Given the description of an element on the screen output the (x, y) to click on. 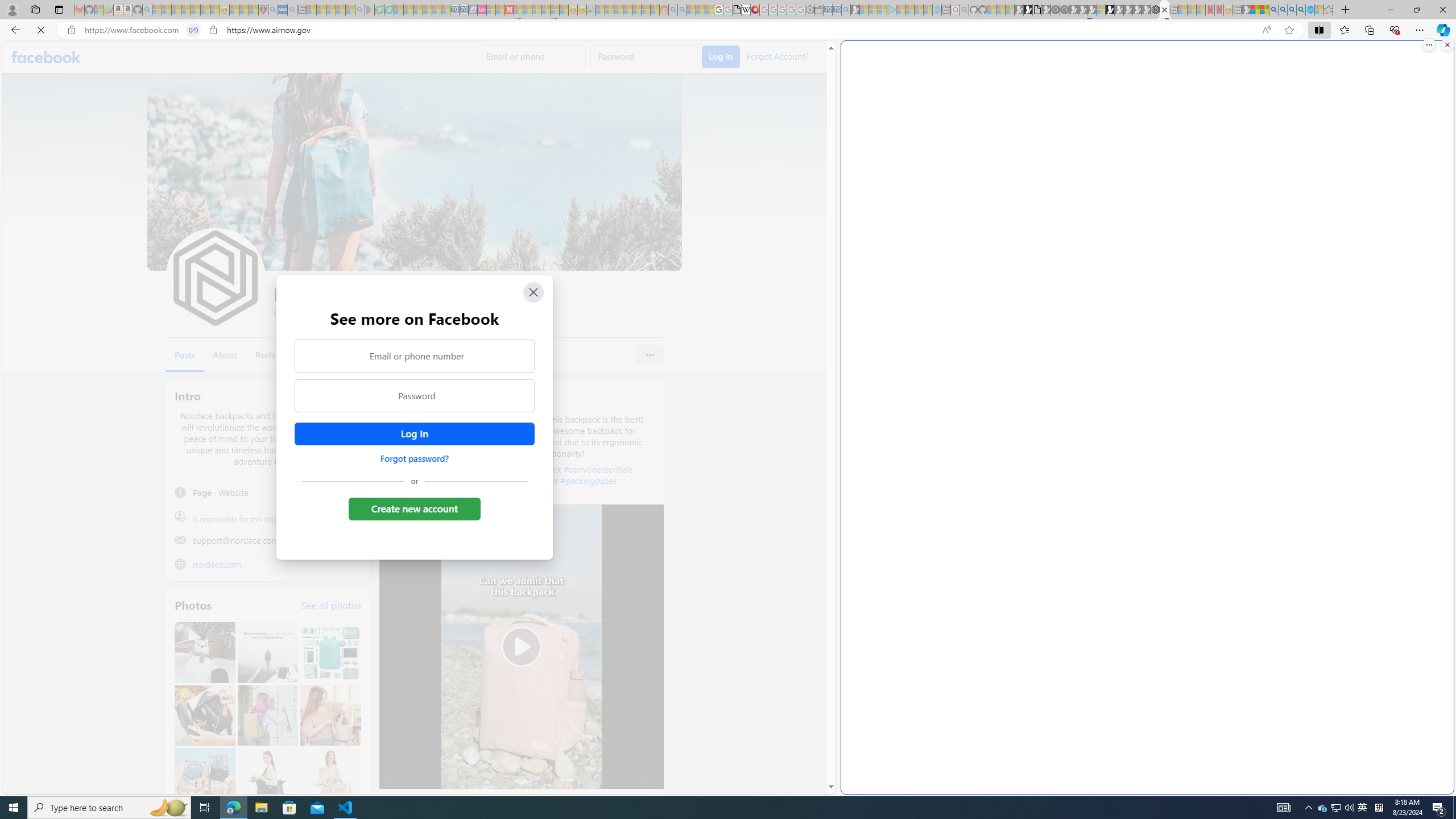
Password (414, 395)
Local - MSN - Sleeping (253, 9)
New tab - Sleeping (1236, 9)
Trusted Community Engagement and Contributions | Guidelines (518, 9)
Sign in to your account - Sleeping (1100, 9)
MSN - Sleeping (1246, 9)
Facebook (46, 56)
